Given the description of an element on the screen output the (x, y) to click on. 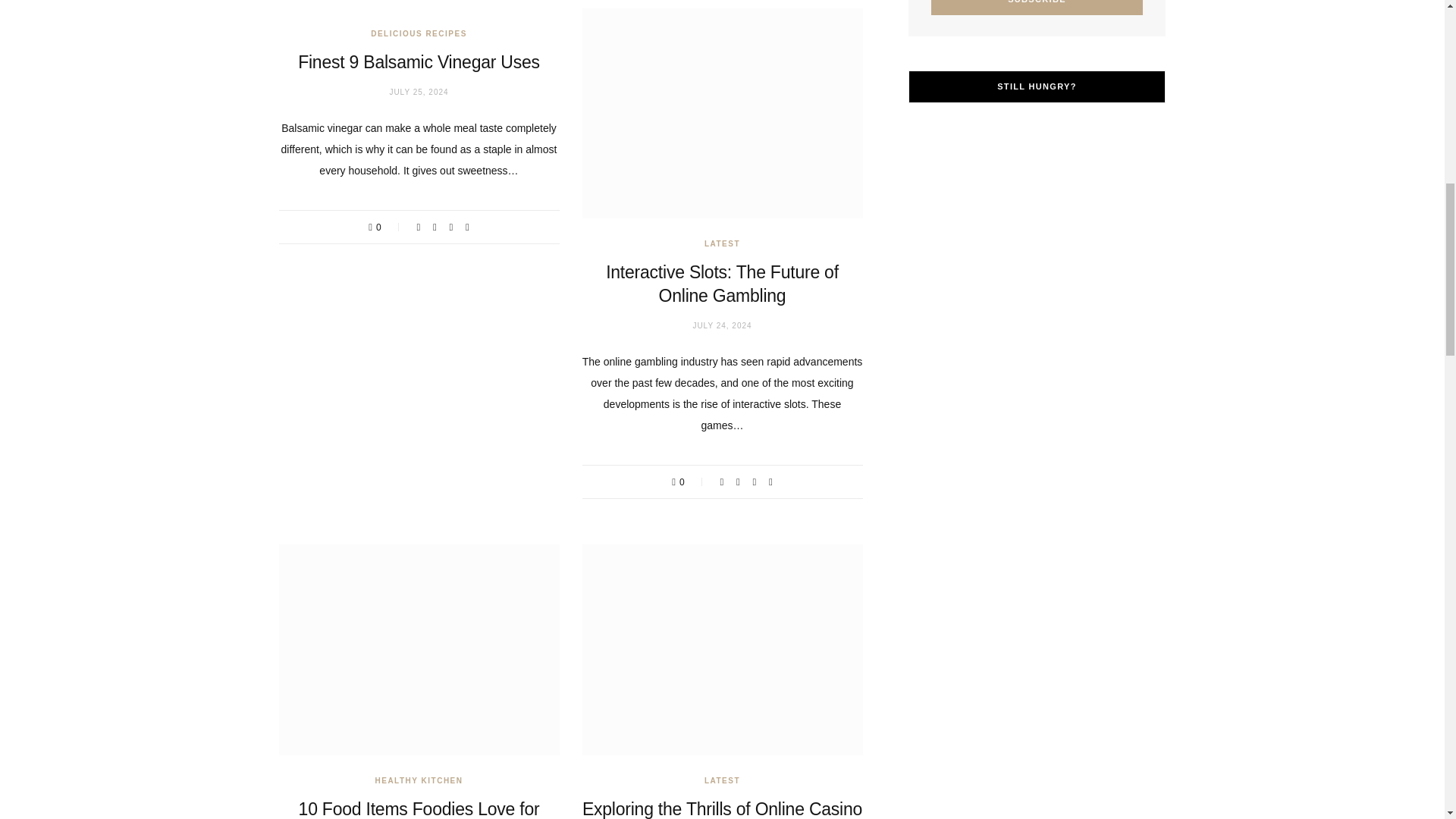
DELICIOUS RECIPES (419, 33)
Interactive Slots: The Future of Online Gambling (721, 283)
0 (385, 226)
Share on Facebook (418, 226)
JULY 24, 2024 (722, 325)
JULY 25, 2024 (418, 91)
Subscribe (1036, 7)
Share on Twitter (434, 226)
Finest 9 Balsamic Vinegar Uses (419, 62)
Pinterest (450, 226)
0 (688, 481)
LATEST (721, 243)
